Given the description of an element on the screen output the (x, y) to click on. 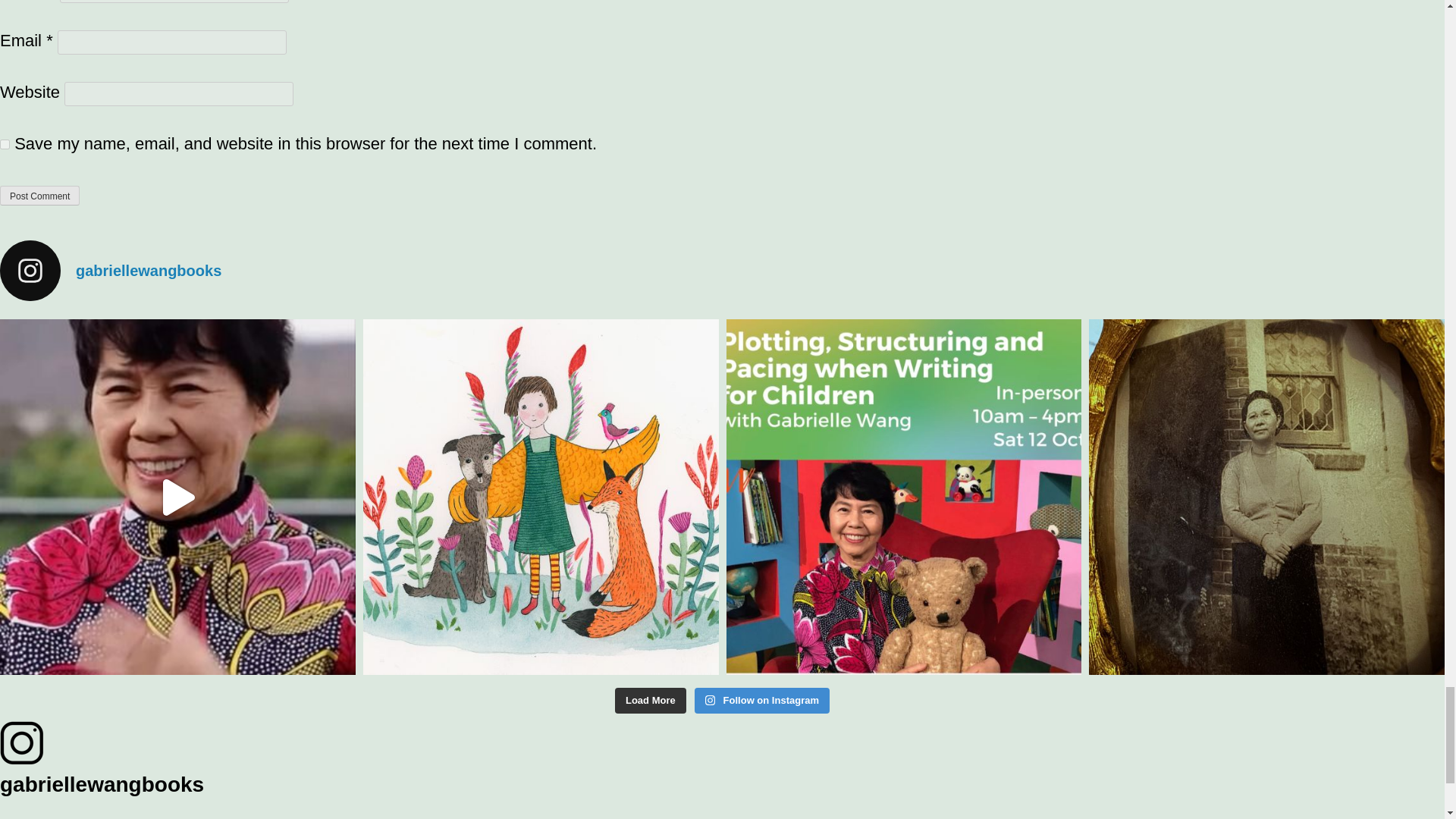
Post Comment (40, 195)
Load More (649, 700)
yes (5, 144)
Post Comment (40, 195)
Follow on Instagram (761, 700)
